Given the description of an element on the screen output the (x, y) to click on. 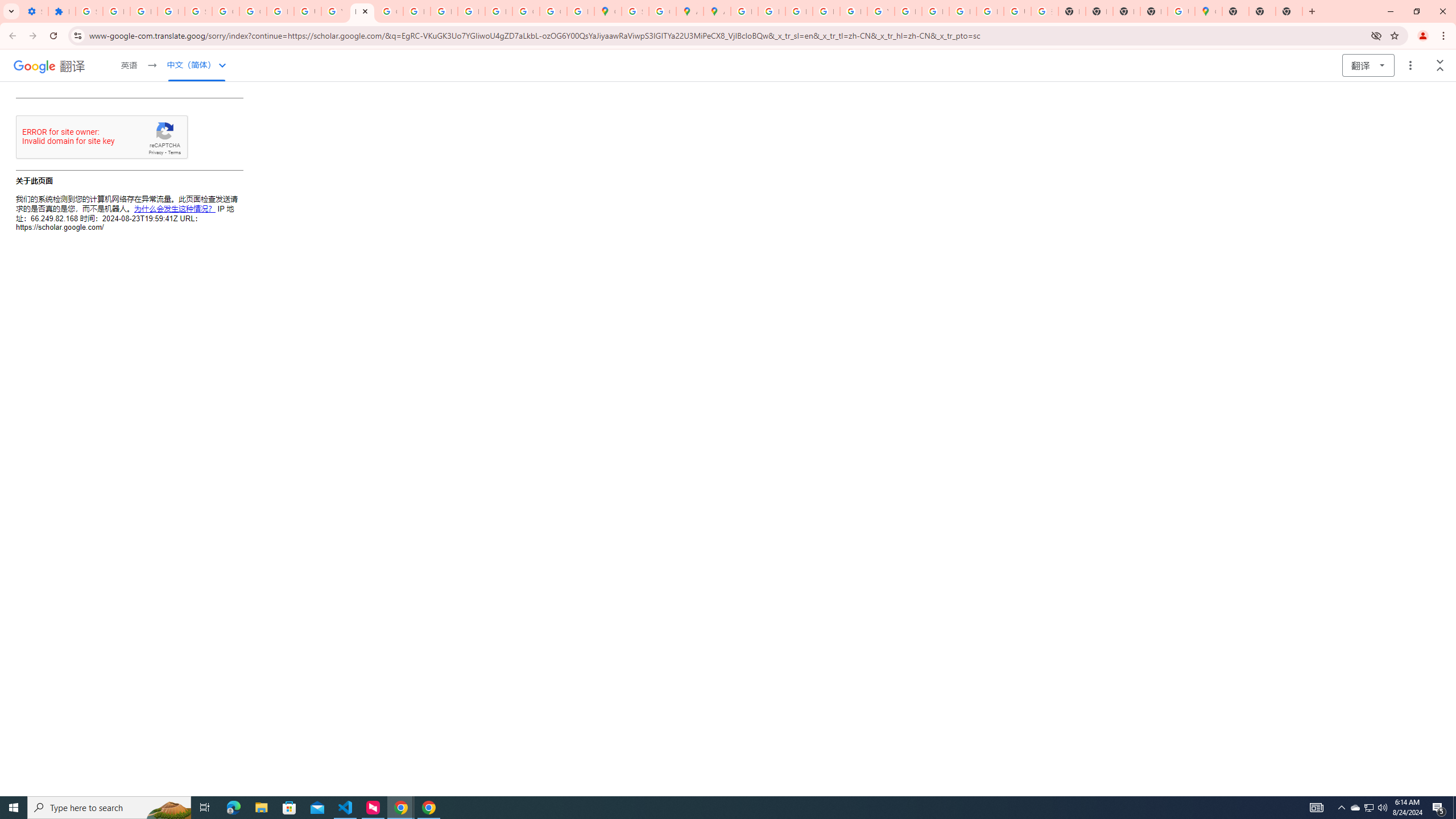
YouTube (334, 11)
Google Account Help (225, 11)
Use Google Maps in Space - Google Maps Help (1180, 11)
Sign in - Google Accounts (197, 11)
Sign in - Google Accounts (88, 11)
YouTube (880, 11)
Policy Accountability and Transparency - Transparency Center (743, 11)
